Given the description of an element on the screen output the (x, y) to click on. 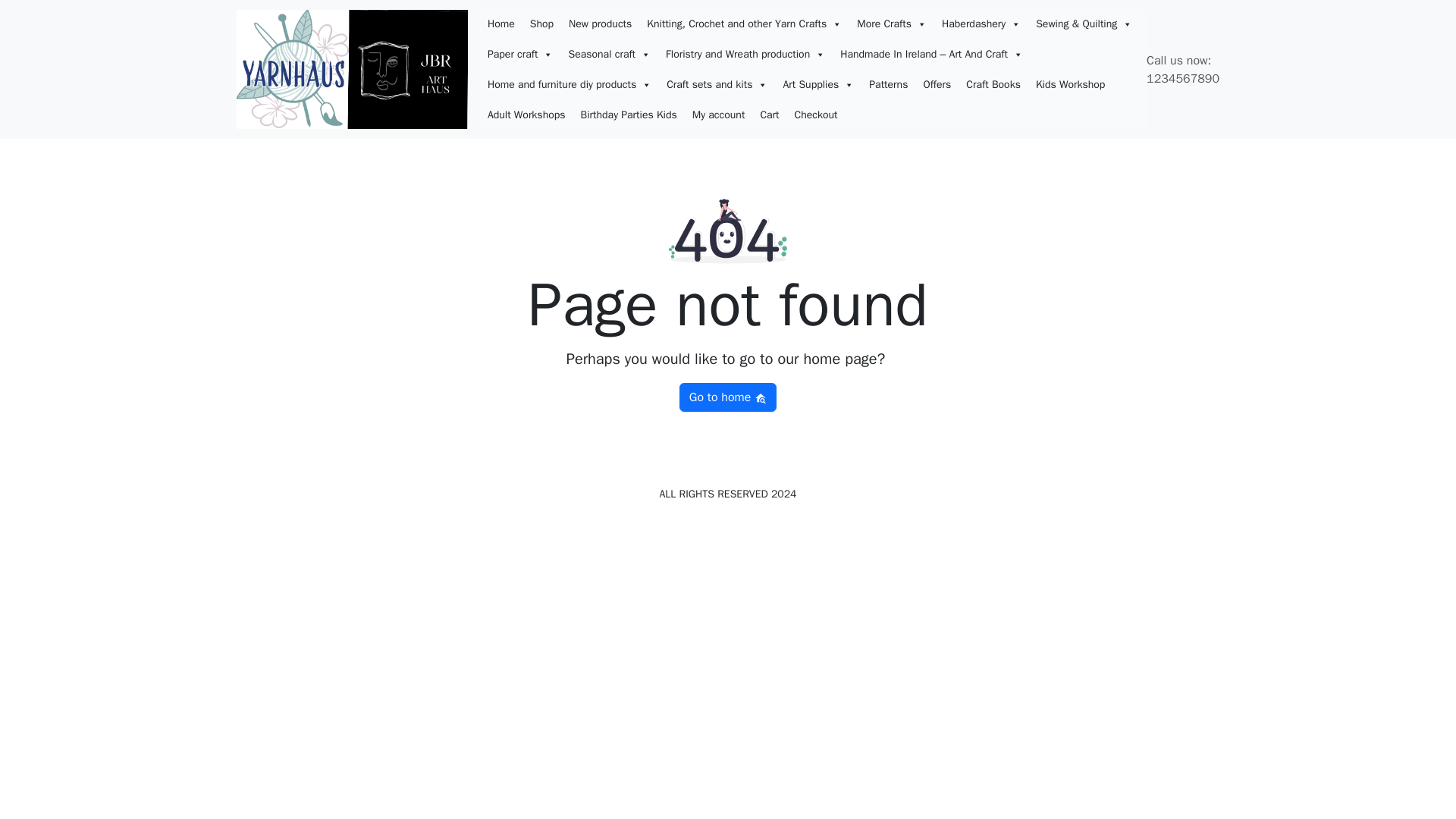
Knitting, Crochet and other Yarn Crafts (743, 24)
Shop (541, 24)
Home (501, 24)
More Crafts (891, 24)
New products (599, 24)
